Given the description of an element on the screen output the (x, y) to click on. 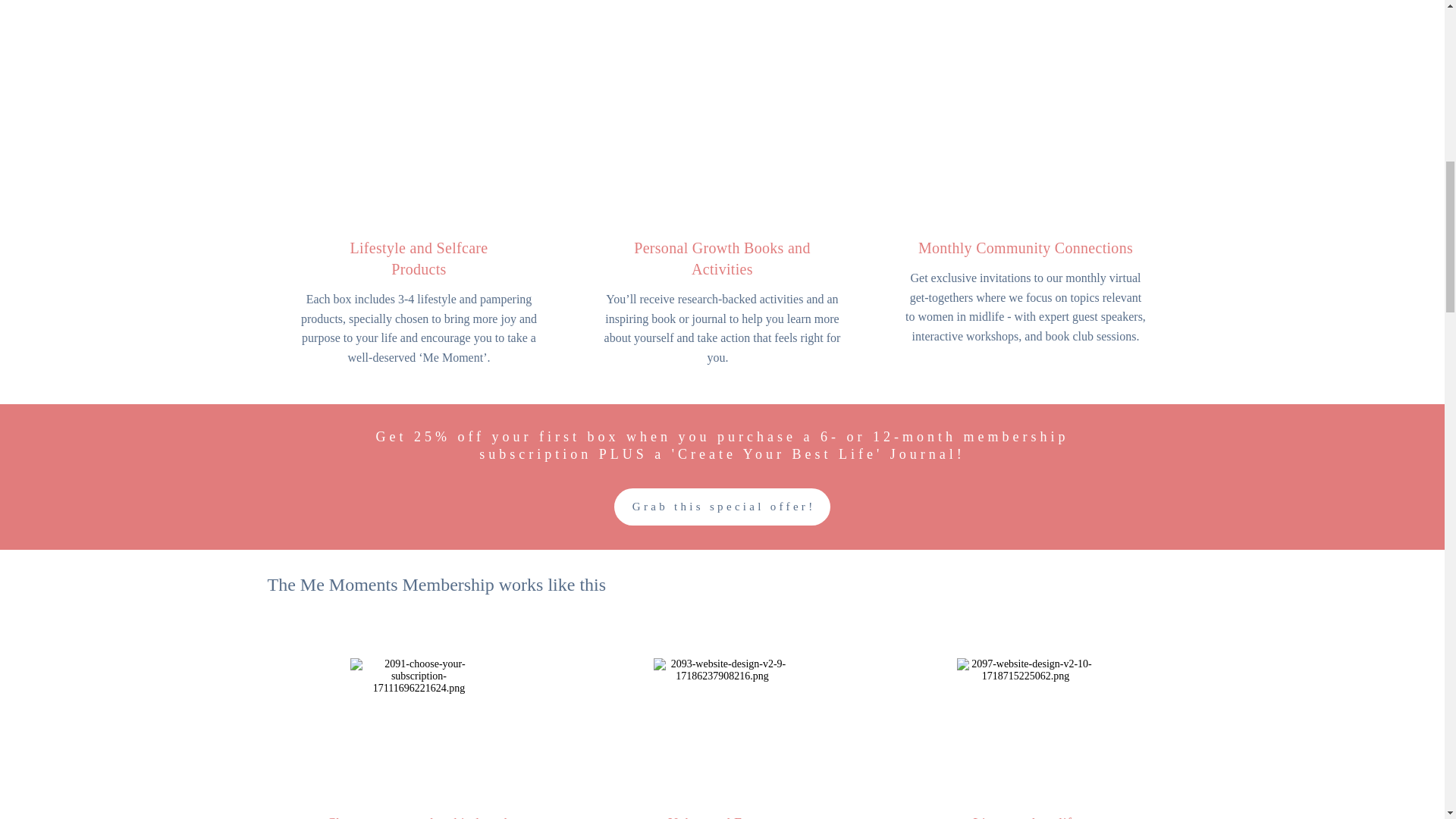
Grab this special offer! (722, 506)
